Given the description of an element on the screen output the (x, y) to click on. 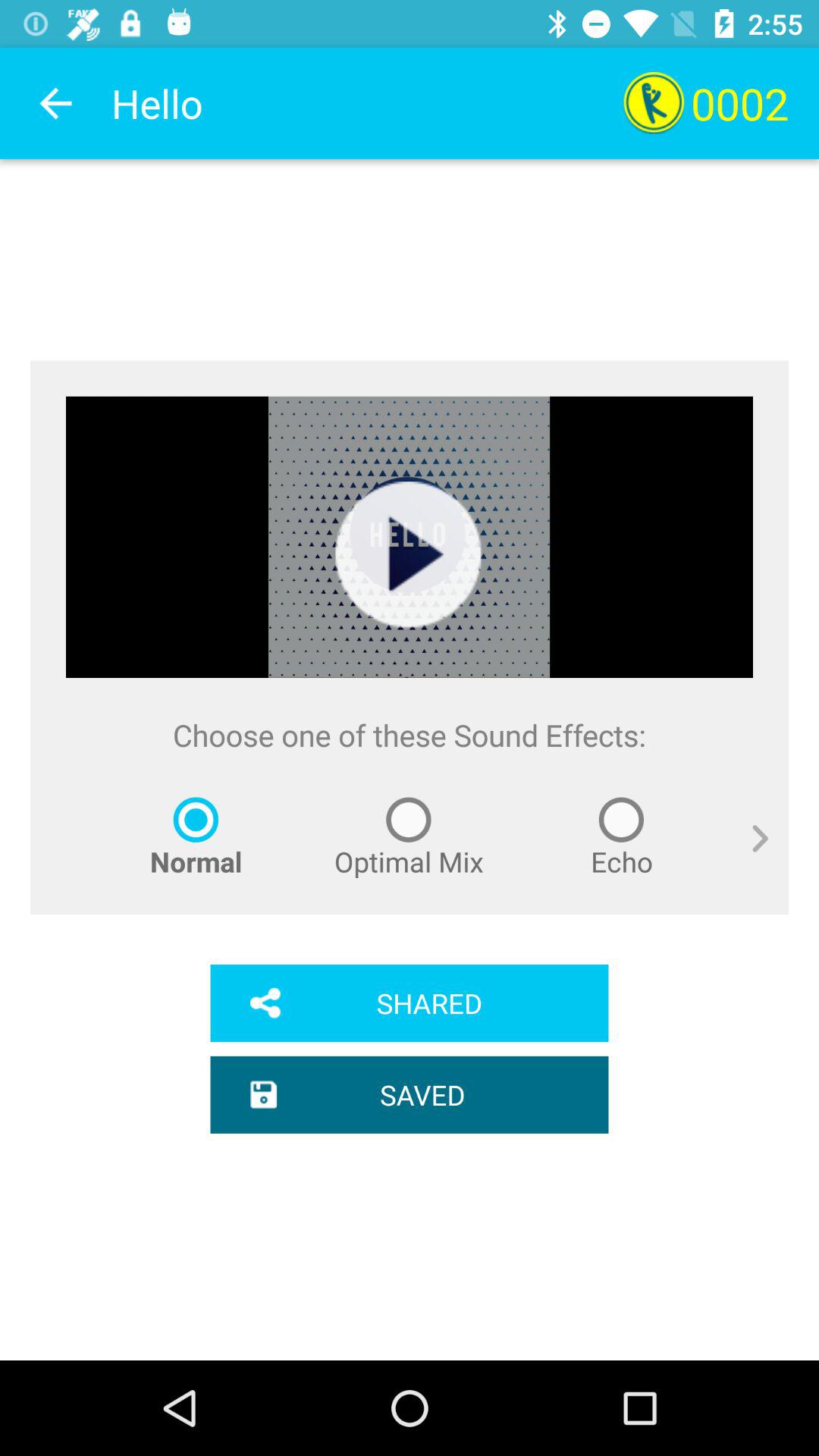
open saved item (409, 1094)
